Given the description of an element on the screen output the (x, y) to click on. 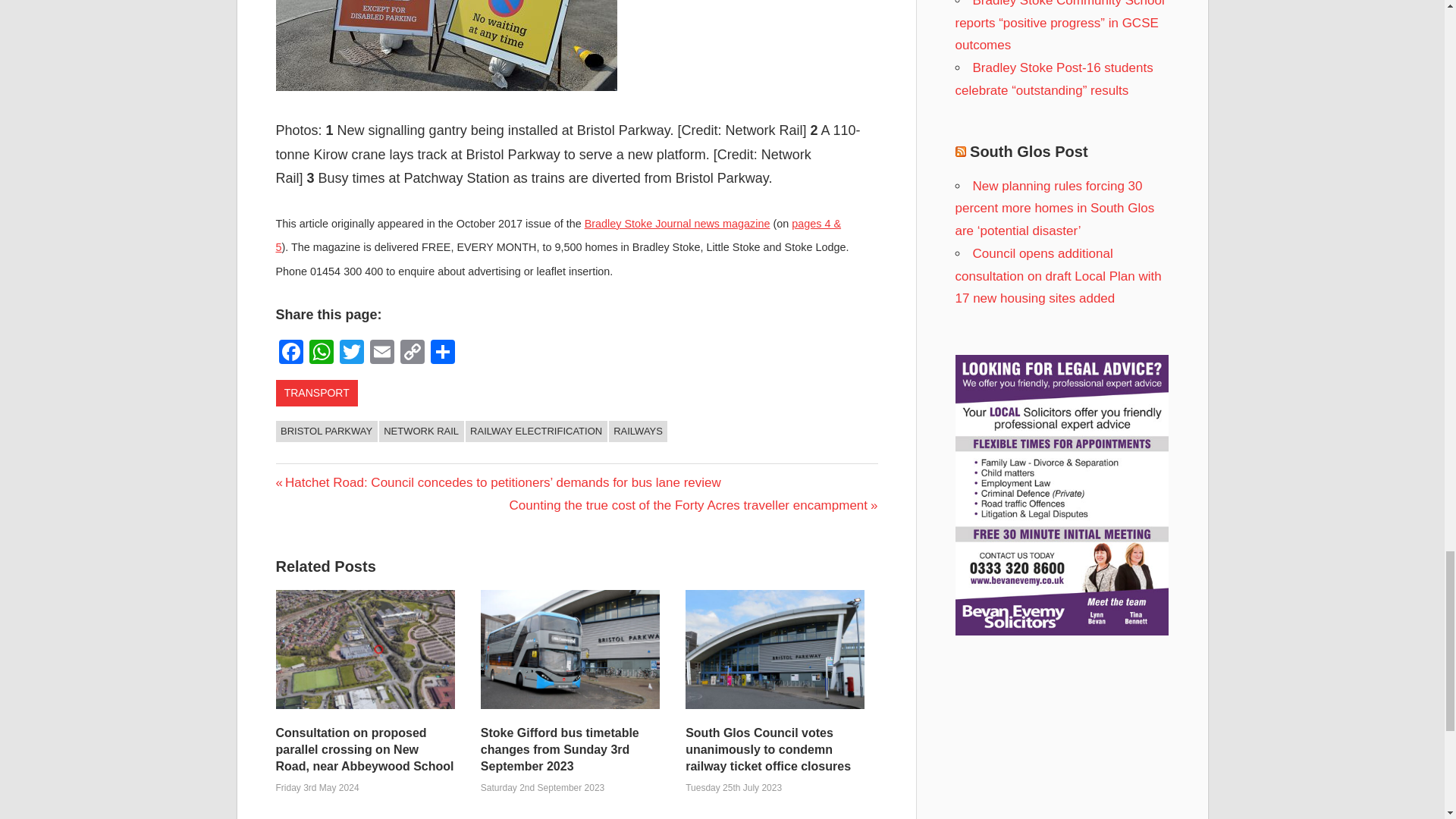
WhatsApp (320, 353)
Copy Link (412, 353)
Twitter (351, 353)
Facebook (290, 353)
3:27pm (317, 787)
Email (381, 353)
